Given the description of an element on the screen output the (x, y) to click on. 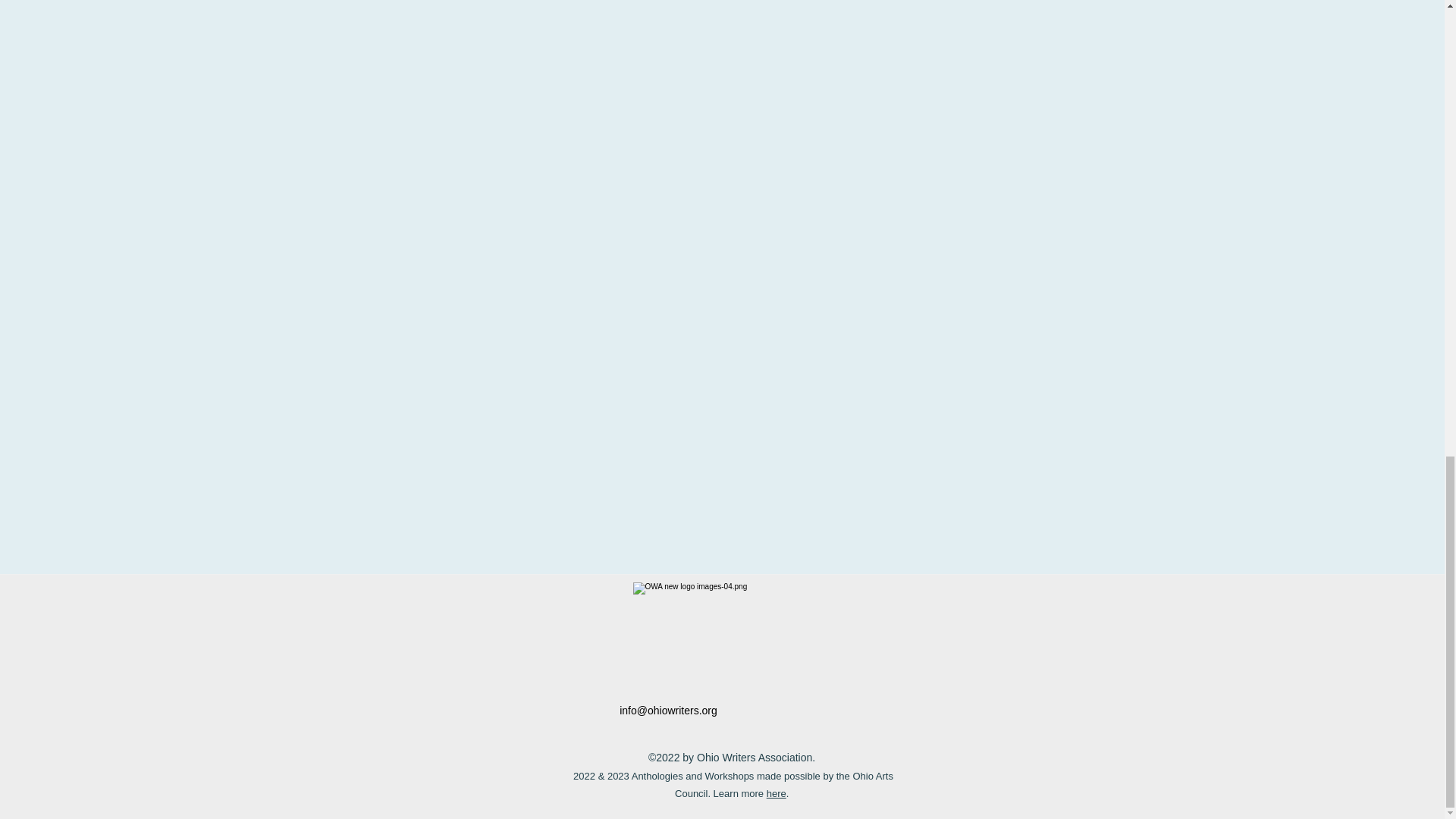
here (776, 793)
